Given the description of an element on the screen output the (x, y) to click on. 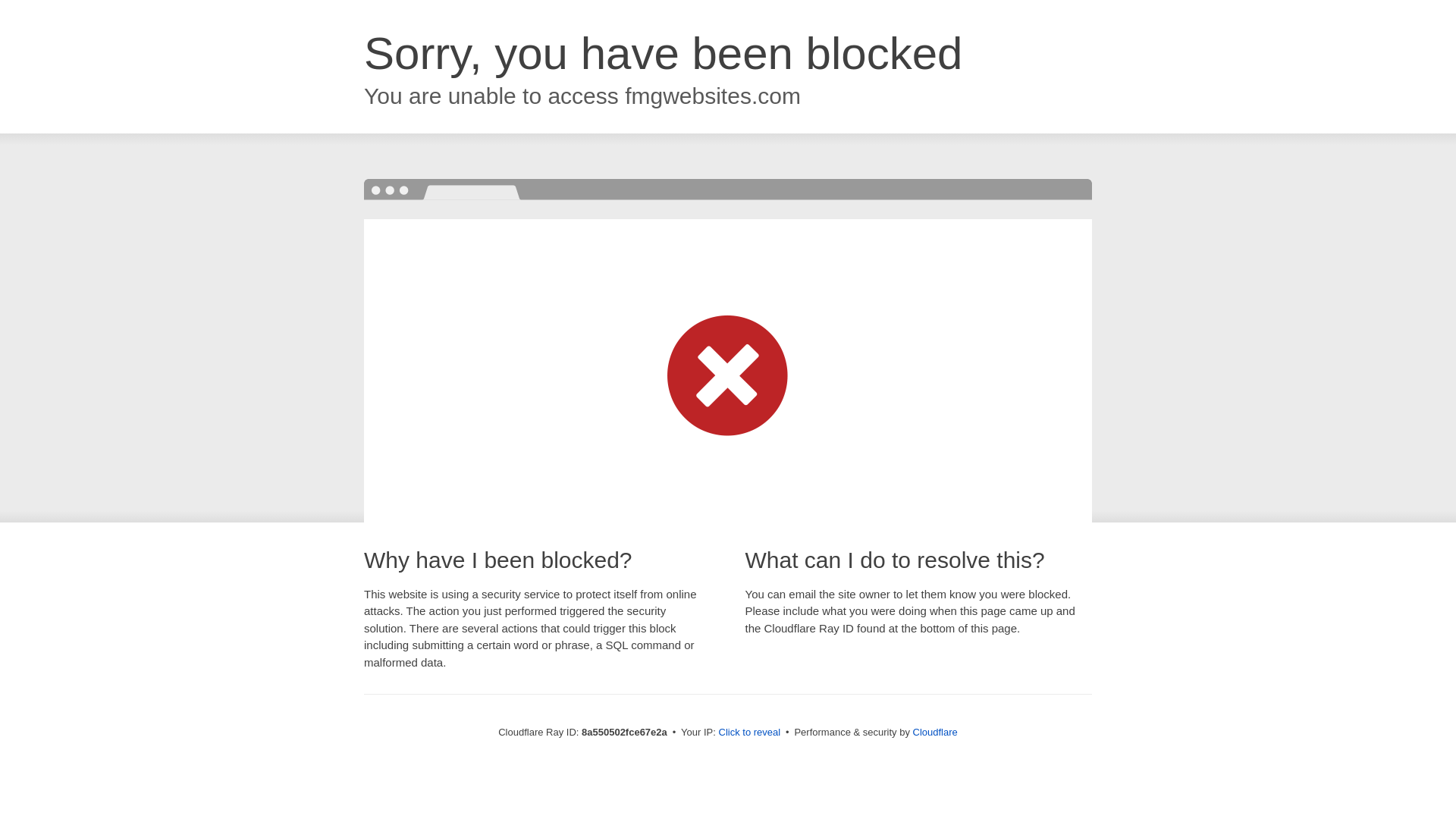
Click to reveal (749, 732)
Cloudflare (935, 731)
